Given the description of an element on the screen output the (x, y) to click on. 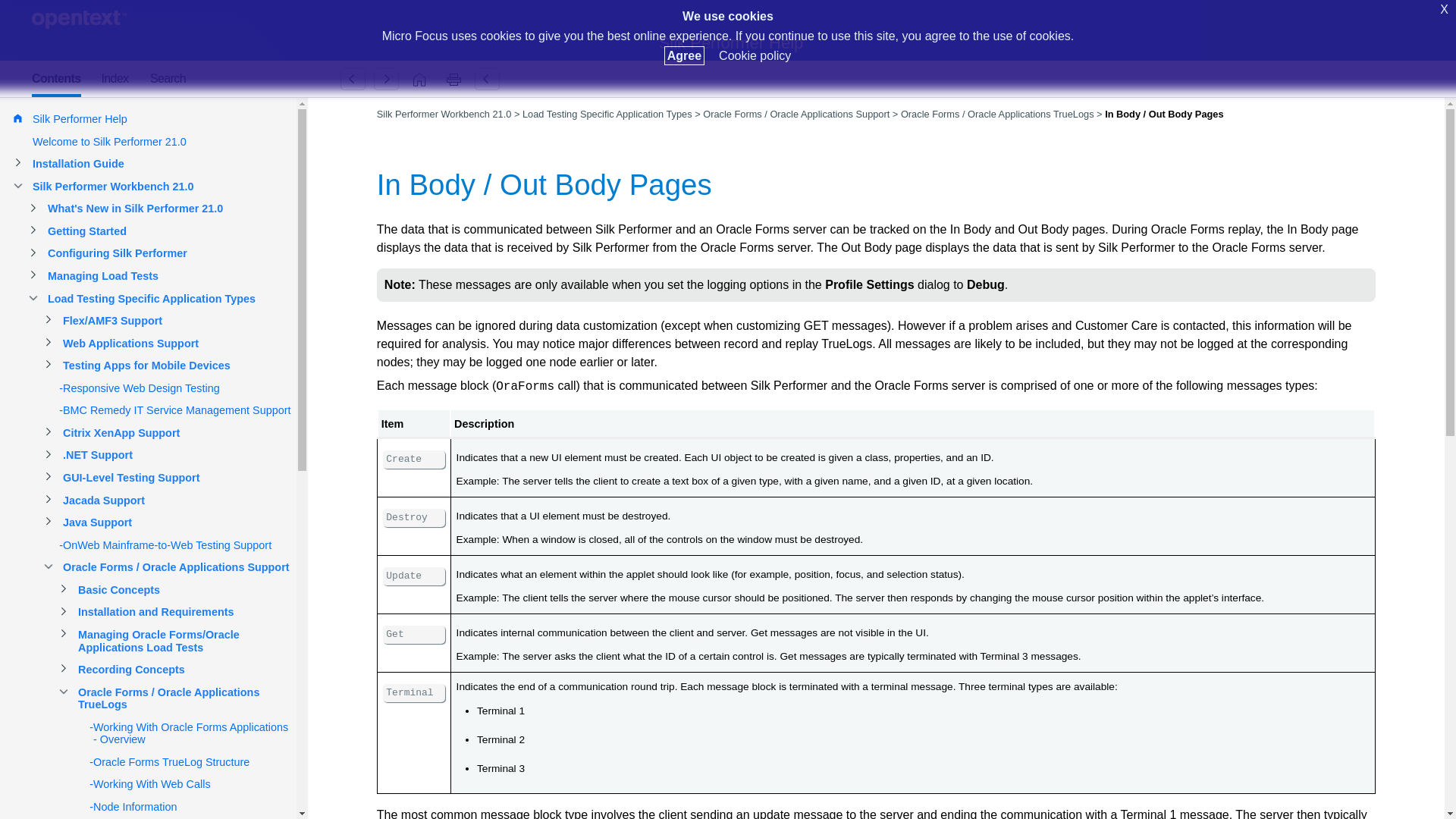
Agree (684, 55)
Replay Concepts (386, 78)
Cookie policy (754, 55)
Input Data Customizable Functions (352, 78)
